Given the description of an element on the screen output the (x, y) to click on. 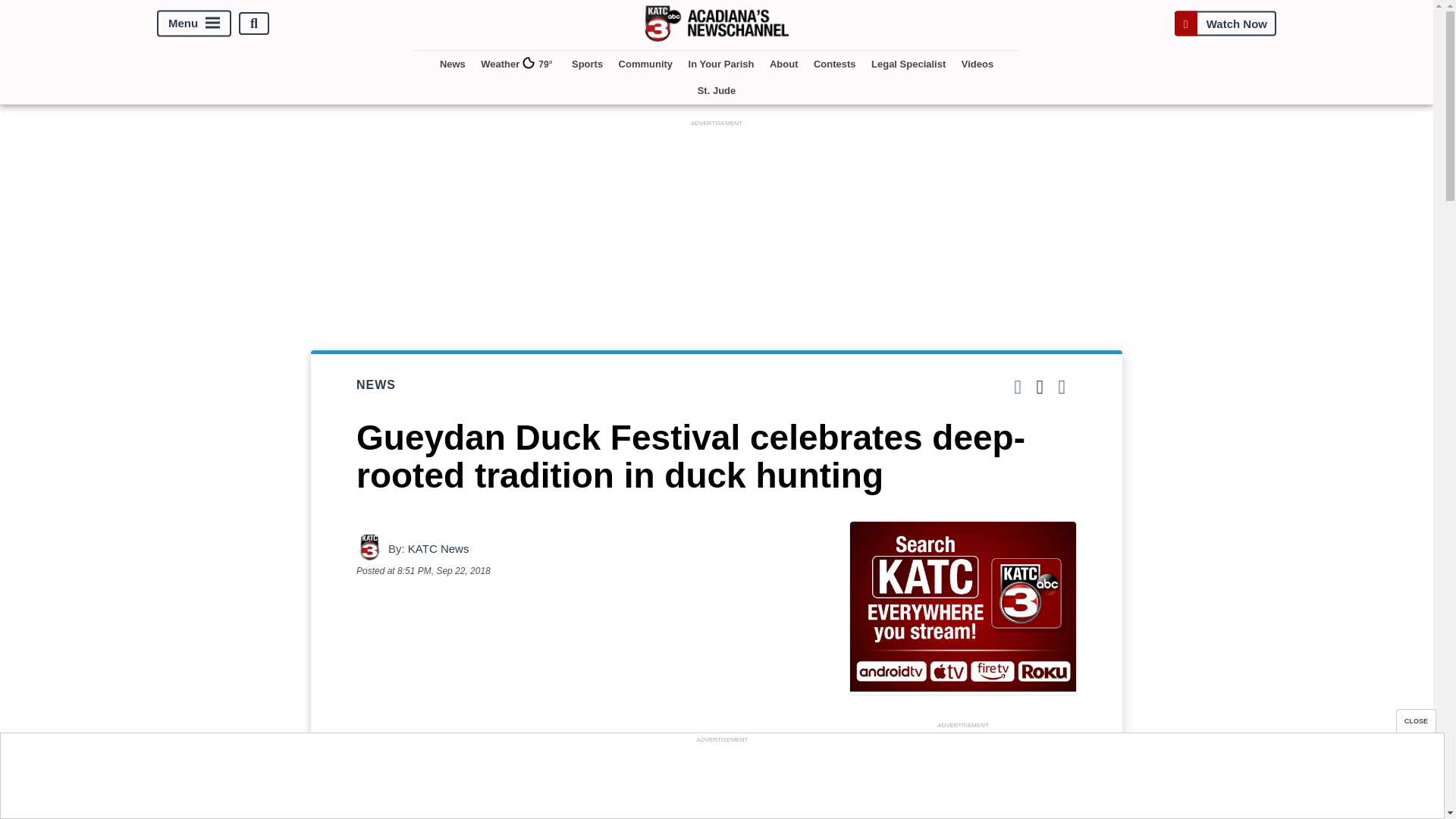
3rd party ad content (962, 775)
Menu (194, 23)
YouTube player (587, 705)
3rd party ad content (721, 780)
Watch Now (1224, 23)
